Given the description of an element on the screen output the (x, y) to click on. 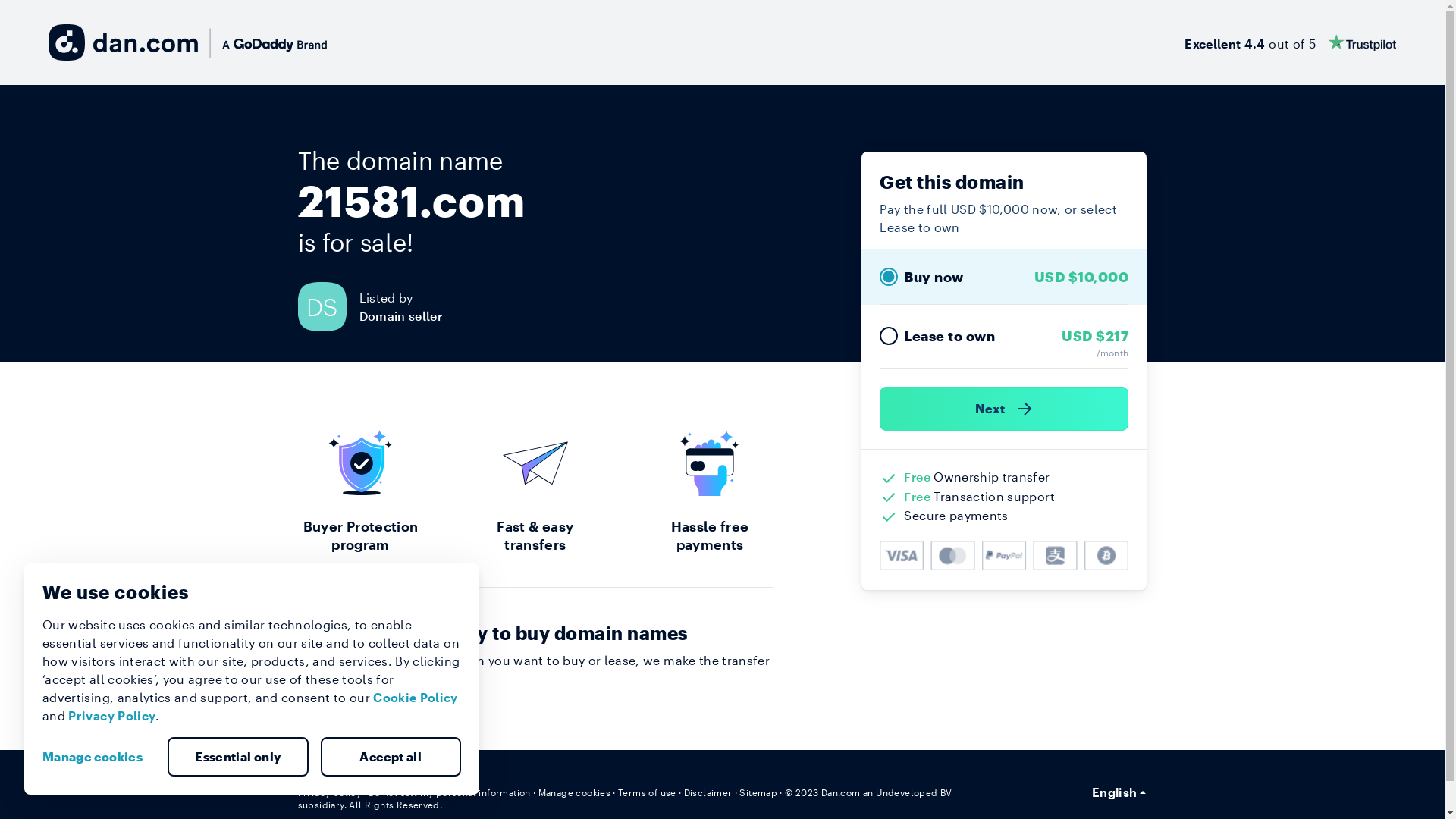
Do not sell my personal information Element type: text (449, 792)
Accept all Element type: text (390, 756)
Manage cookies Element type: text (98, 756)
Privacy policy Element type: text (328, 792)
Next
) Element type: text (1003, 408)
Cookie Policy Element type: text (415, 697)
Terms of use Element type: text (647, 792)
Sitemap Element type: text (758, 792)
Manage cookies Element type: text (574, 792)
English Element type: text (1119, 792)
Essential only Element type: text (237, 756)
Excellent 4.4 out of 5 Element type: text (1290, 42)
Privacy Policy Element type: text (111, 715)
Disclaimer Element type: text (708, 792)
